Given the description of an element on the screen output the (x, y) to click on. 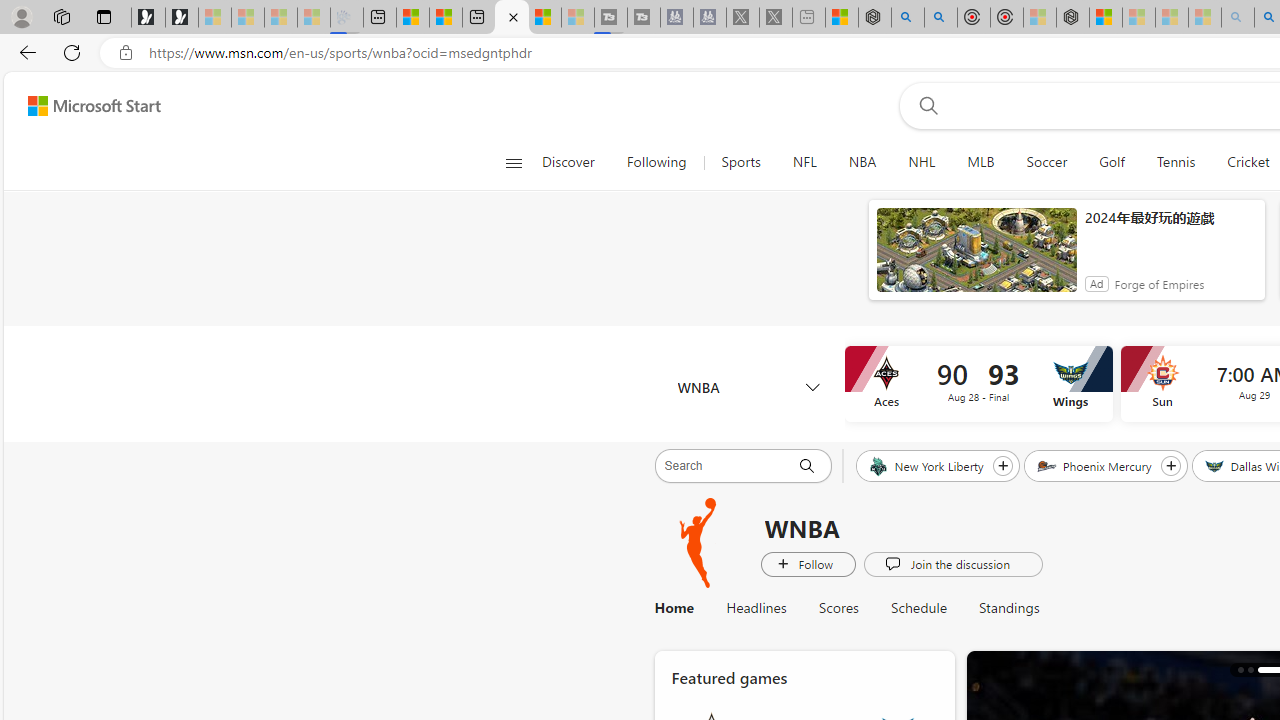
Tennis (1175, 162)
poe - Search (908, 17)
Streaming Coverage | T3 - Sleeping (611, 17)
Golf (1111, 162)
MLB (981, 162)
Soccer (1046, 162)
NHL (922, 162)
Skip to content (86, 105)
WNBA (748, 386)
Newsletter Sign Up (182, 17)
Soccer (1046, 162)
NBA (861, 162)
